Given the description of an element on the screen output the (x, y) to click on. 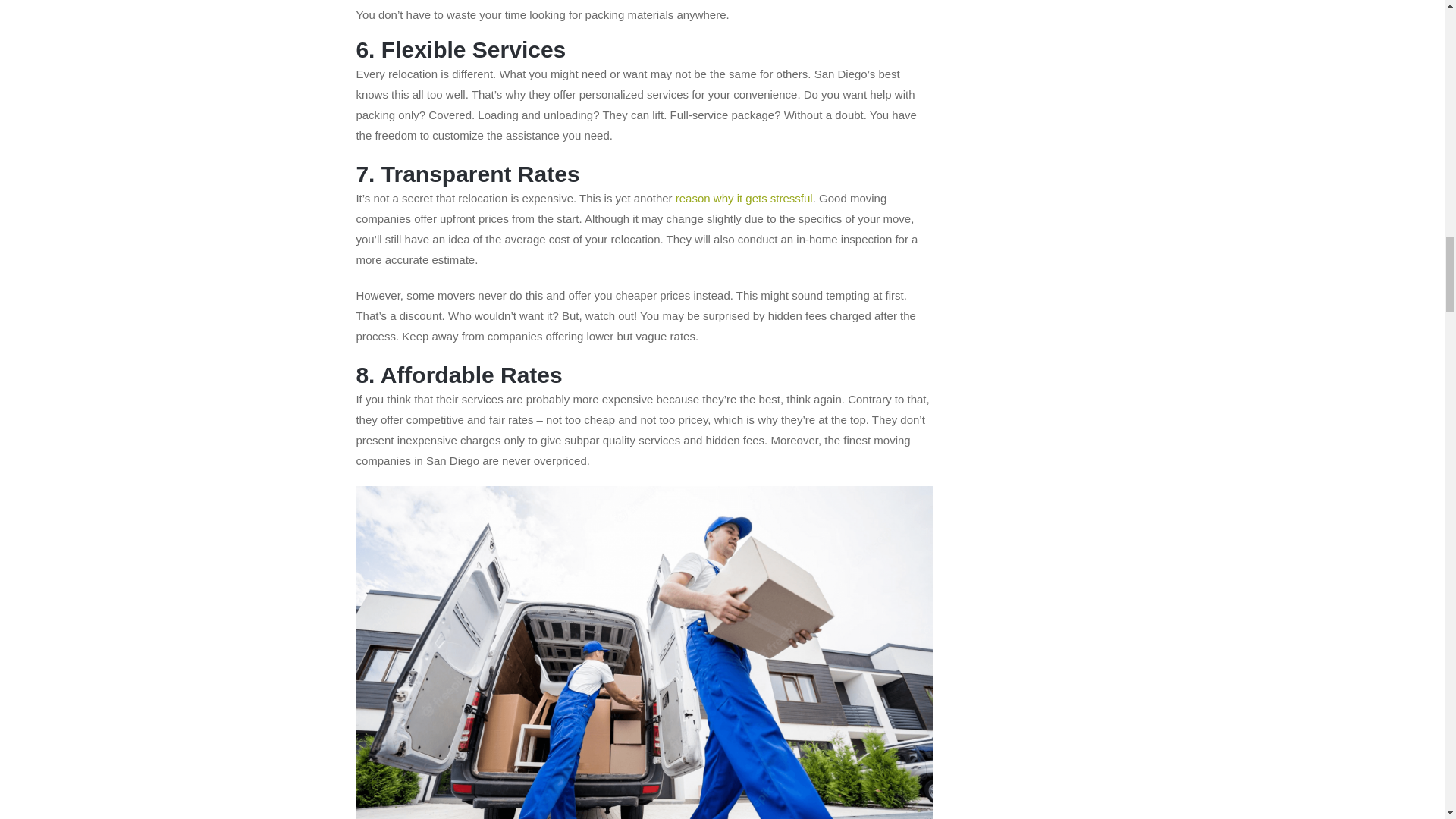
reason why it gets stressful (743, 197)
